Given the description of an element on the screen output the (x, y) to click on. 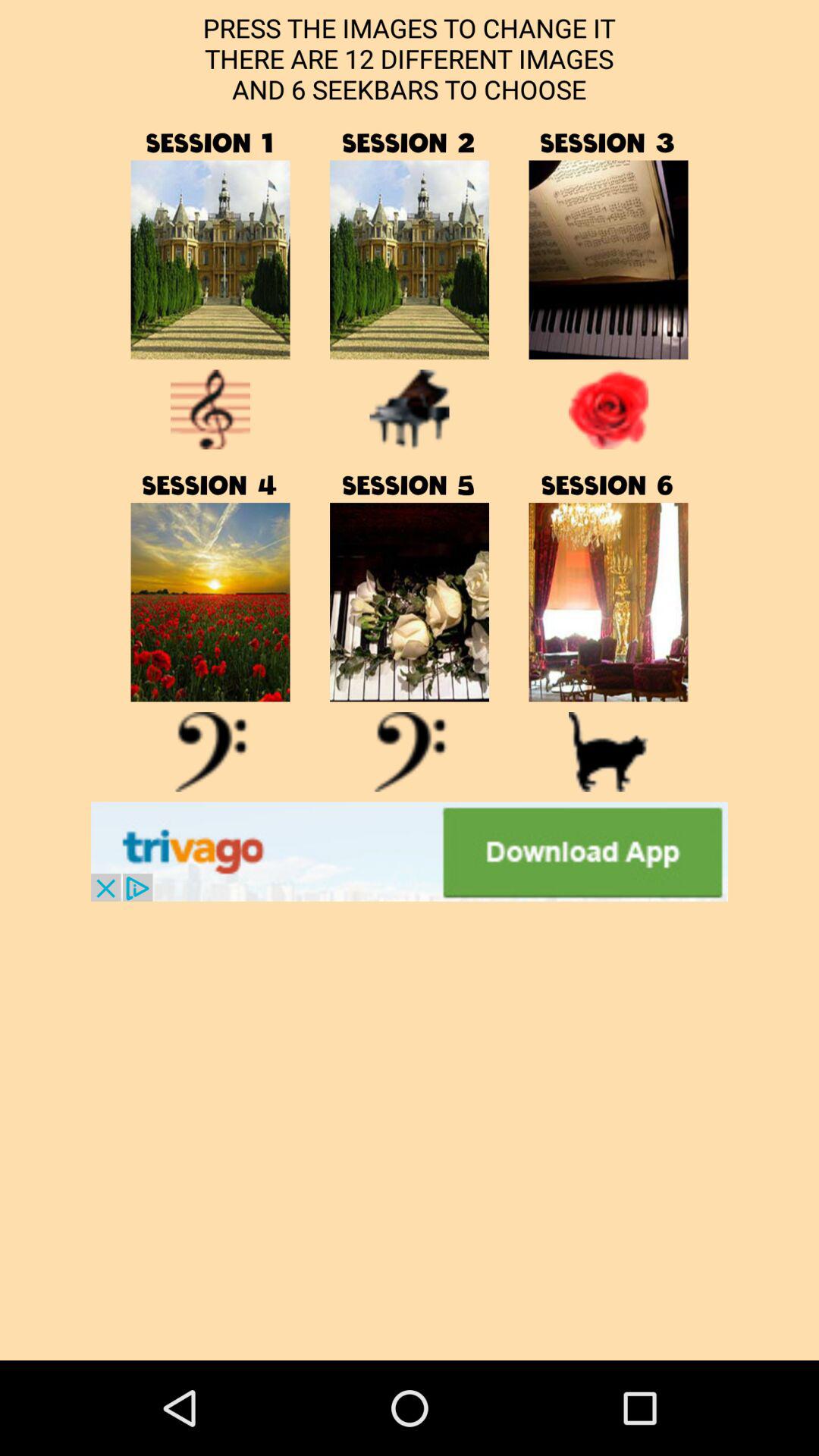
sesson 4 button (210, 601)
